Given the description of an element on the screen output the (x, y) to click on. 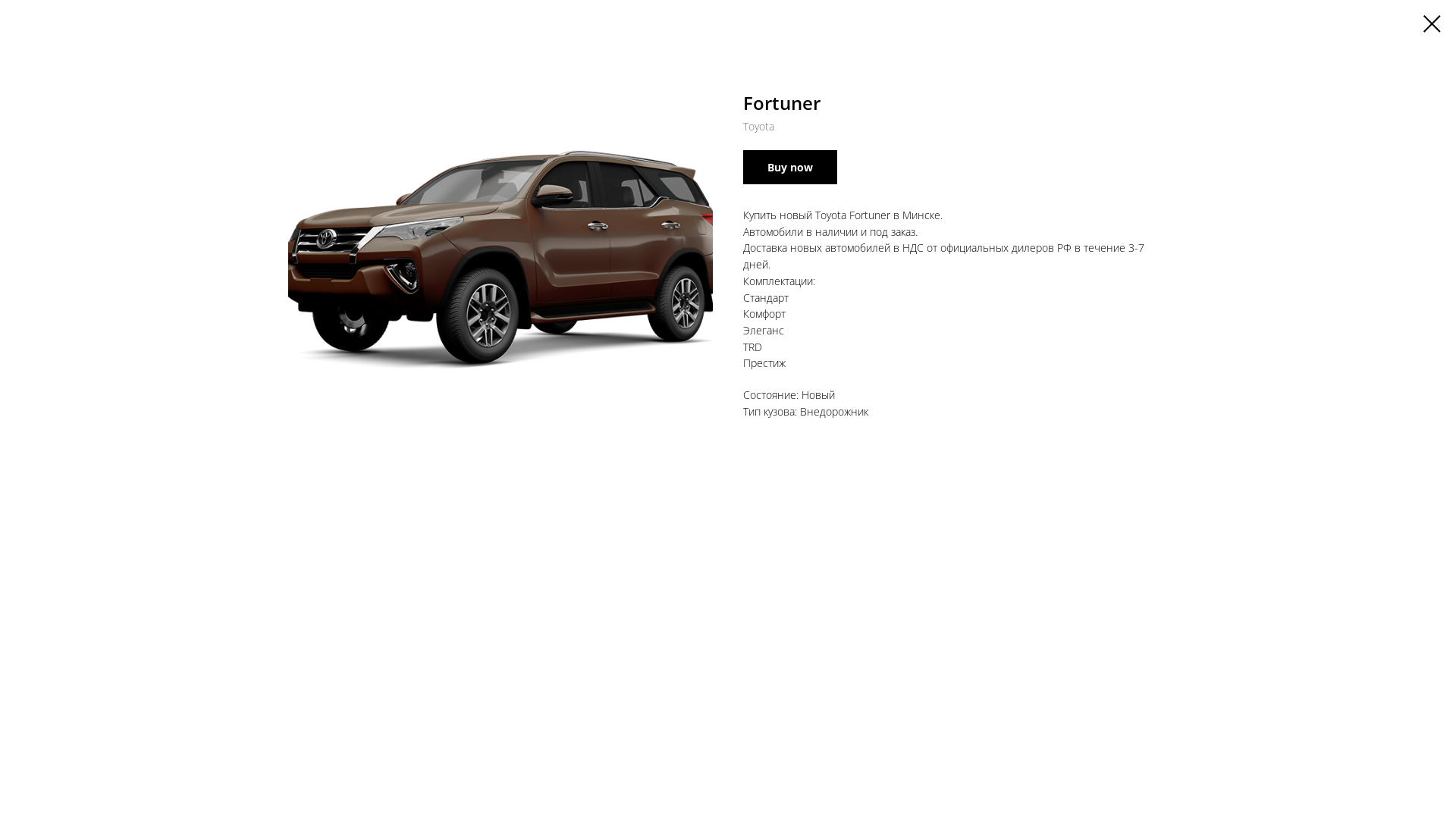
Buy now Element type: text (790, 167)
